Given the description of an element on the screen output the (x, y) to click on. 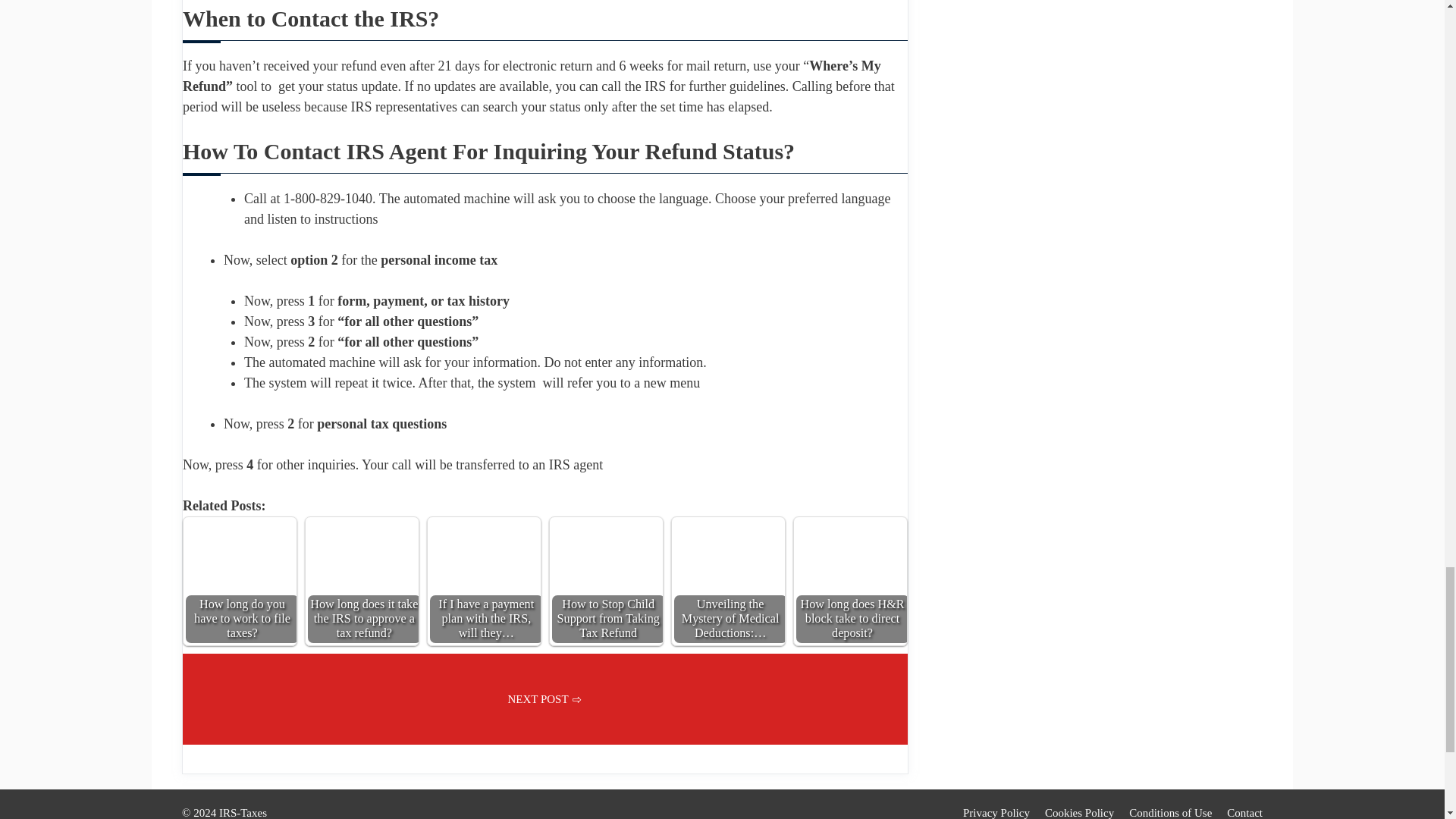
Privacy Policy (995, 812)
Cookies Policy (1079, 812)
Conditions of Use (1170, 812)
How long do you have to work to file taxes? (240, 573)
How long does it take the IRS to approve a tax refund? (361, 573)
Contact (1244, 812)
How to Stop Child Support from Taking Tax Refund (606, 573)
